Given the description of an element on the screen output the (x, y) to click on. 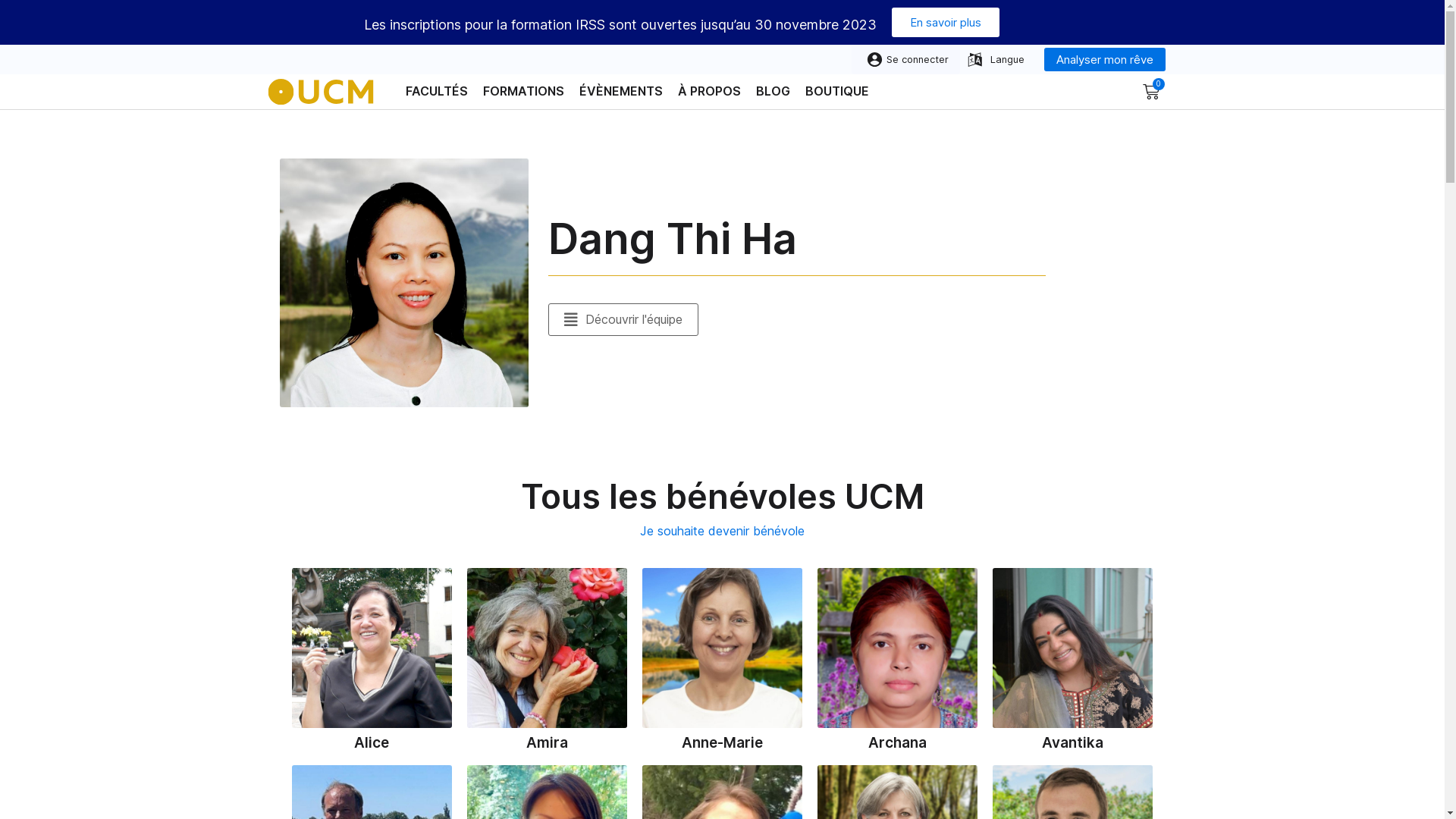
BLOG Element type: text (772, 90)
0 Element type: text (1149, 91)
FORMATIONS Element type: text (522, 90)
BOUTIQUE Element type: text (837, 90)
En savoir plus Element type: text (945, 22)
Se connecter Element type: text (905, 59)
